Given the description of an element on the screen output the (x, y) to click on. 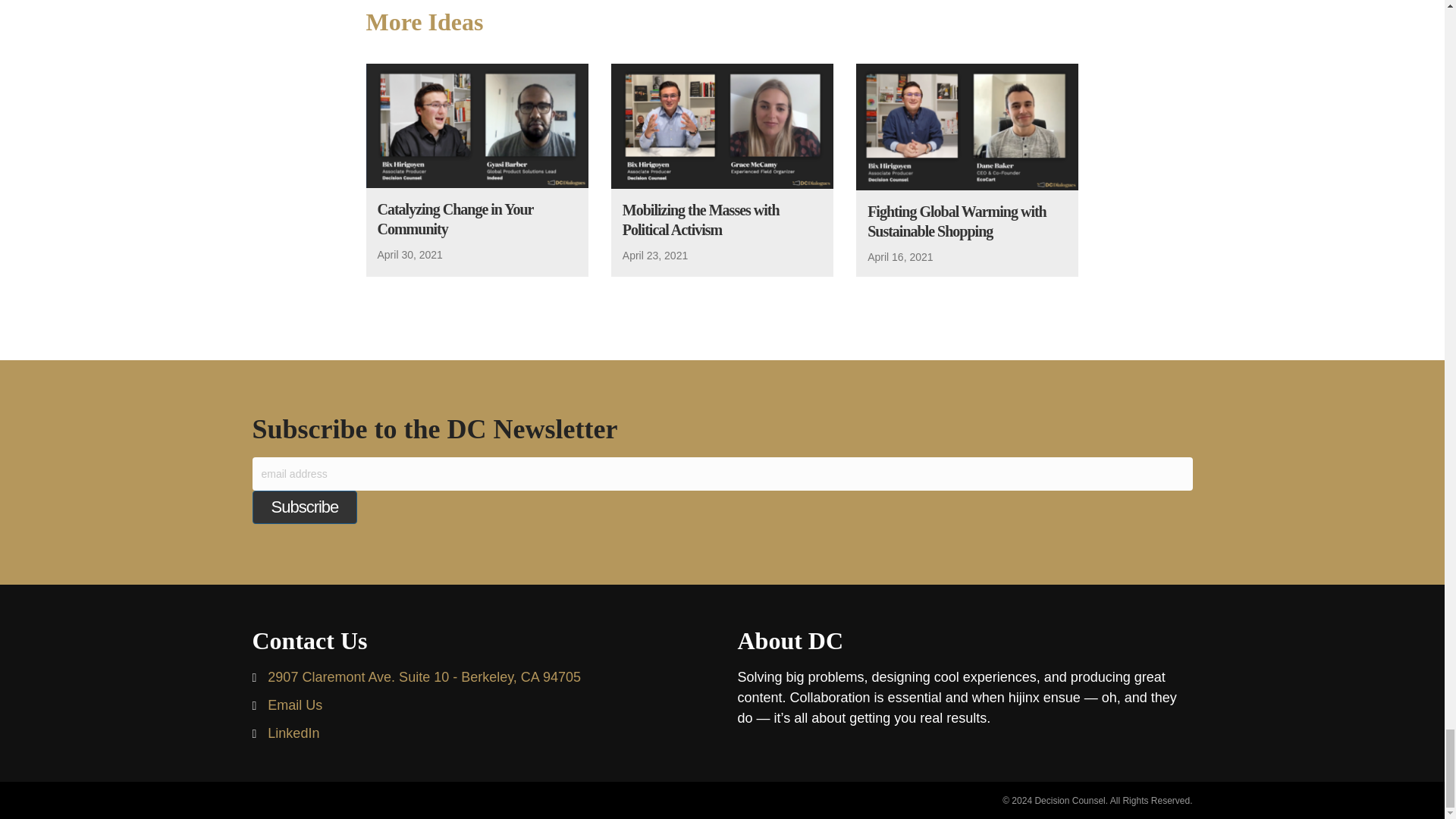
Subscribe (303, 507)
2907 Claremont Ave. Suite 10 - Berkeley, CA 94705 (423, 677)
Fighting Global Warming with Sustainable Shopping (956, 221)
Mobilizing the Masses with Political Activism (721, 124)
Mobilizing the Masses with Political Activism (700, 219)
Fighting Global Warming with Sustainable Shopping (967, 124)
Catalyzing Change in Your Community (455, 218)
Catalyzing Change in Your Community (455, 218)
Email Us (294, 704)
LinkedIn (292, 733)
Mobilizing the Masses with Political Activism (700, 219)
Fighting Global Warming with Sustainable Shopping (956, 221)
Subscribe (303, 507)
Catalyzing Change in Your Community (476, 124)
